Given the description of an element on the screen output the (x, y) to click on. 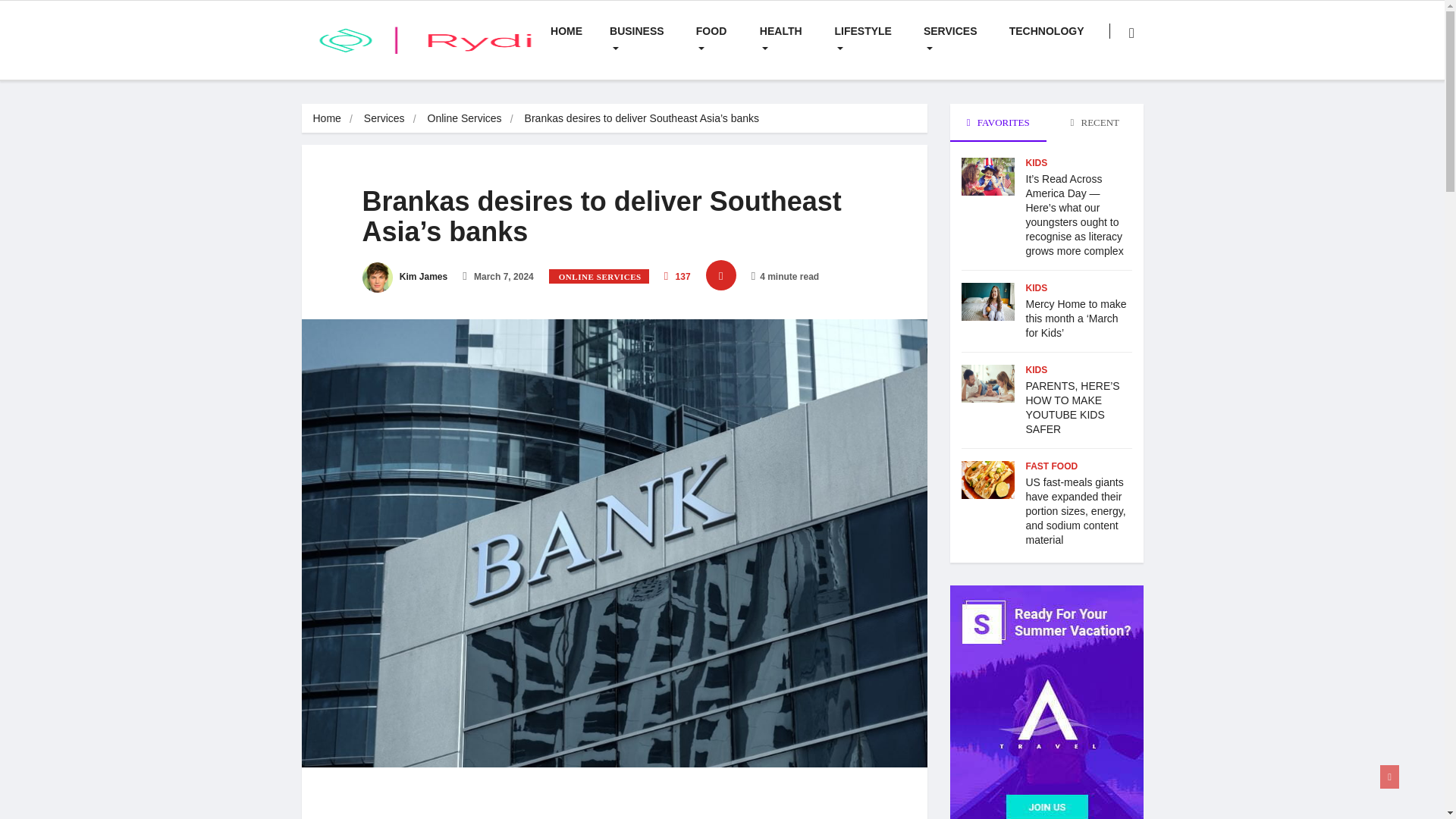
Advertisement (614, 804)
HOME (566, 30)
LIFESTYLE (864, 39)
Online Services (465, 118)
BUSINESS (638, 39)
Services (384, 118)
SERVICES (952, 39)
TECHNOLOGY (1046, 30)
Home (326, 118)
Kim James (405, 276)
